Given the description of an element on the screen output the (x, y) to click on. 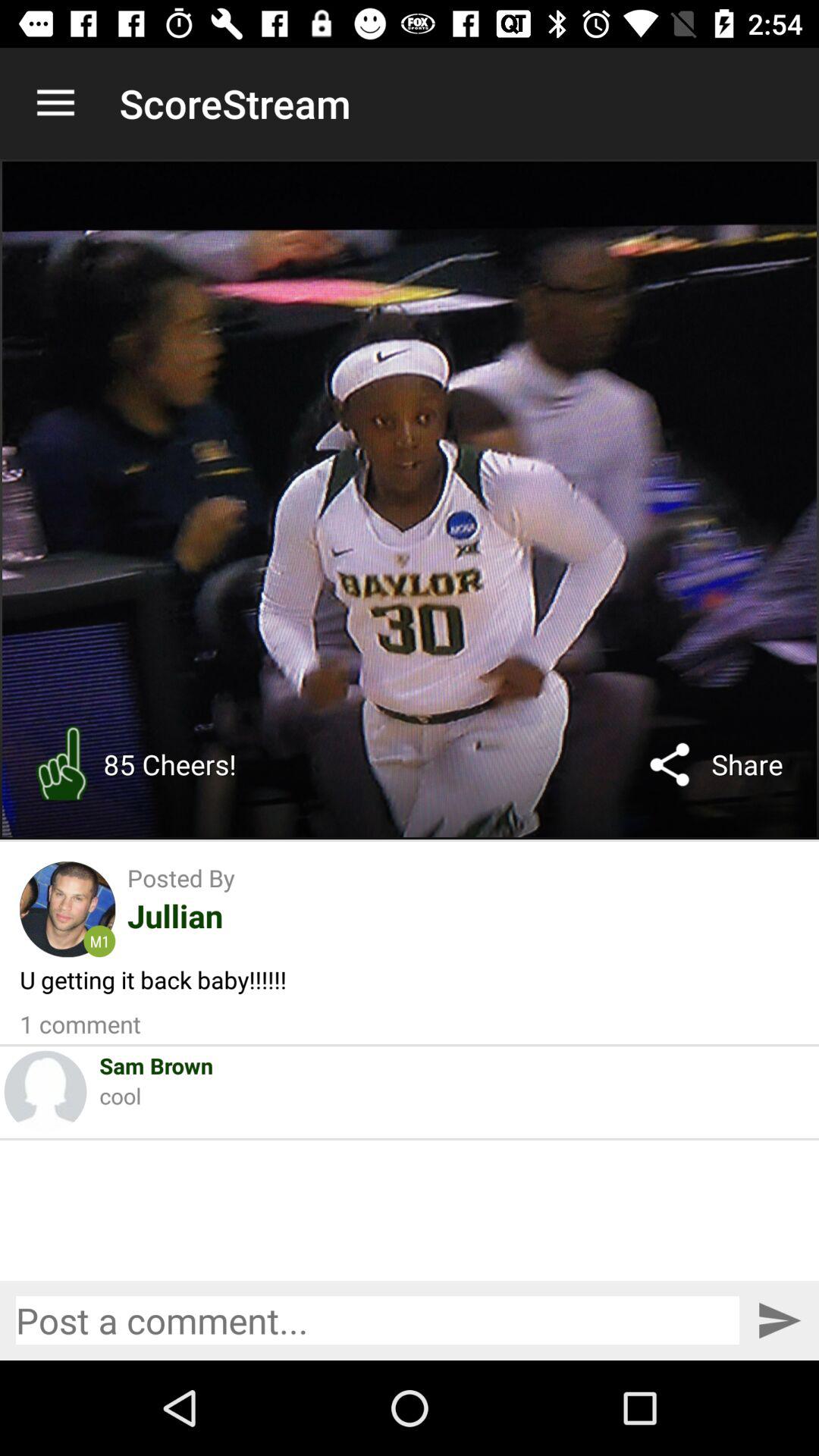
scroll to jullian icon (174, 915)
